Given the description of an element on the screen output the (x, y) to click on. 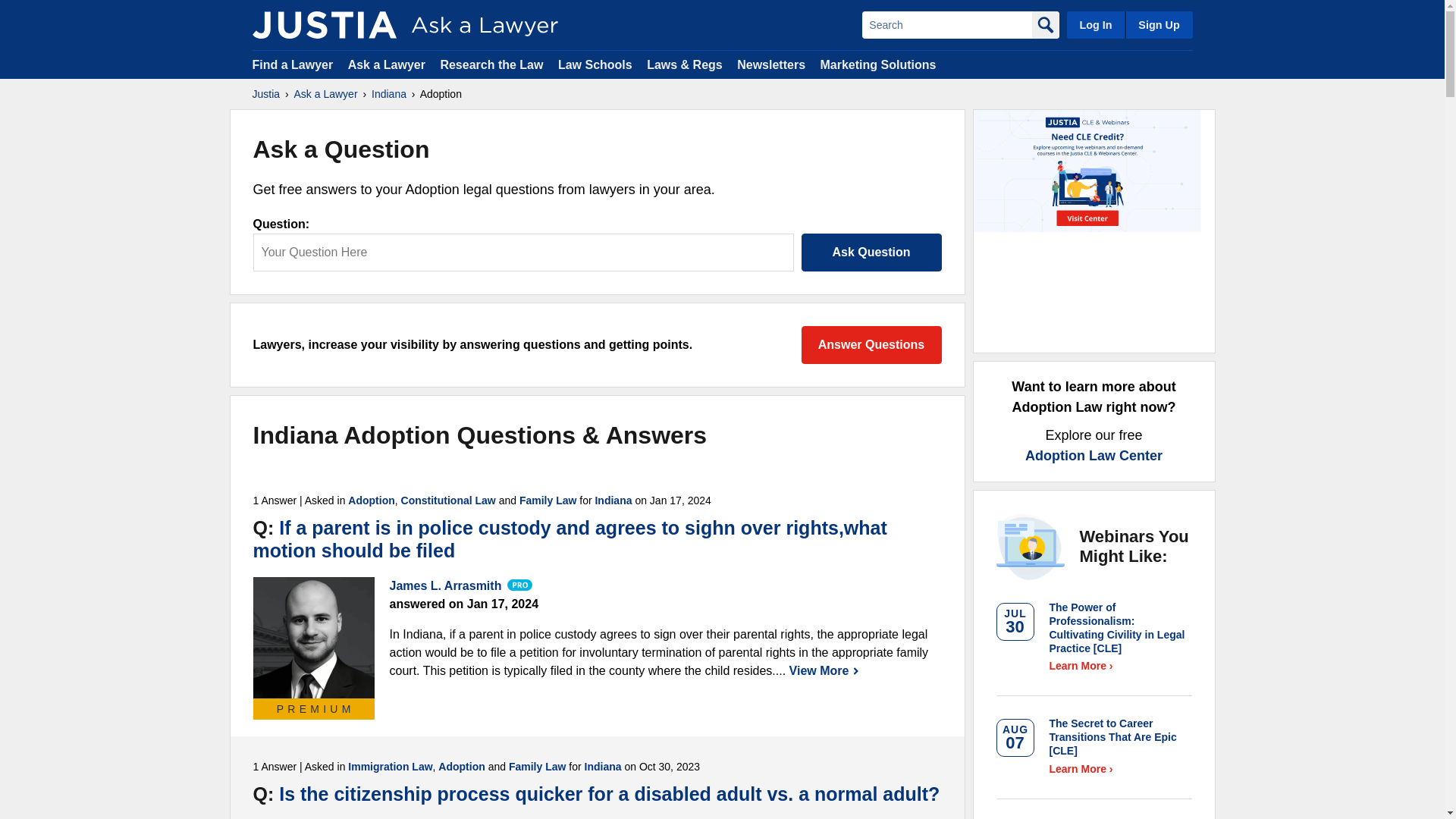
Law Schools (594, 64)
Log In (1094, 24)
Newsletters (770, 64)
Family Law (547, 500)
View More (824, 670)
Adoption (370, 500)
James L. Arrasmith (313, 637)
Search (945, 24)
James L. Arrasmith (446, 585)
Indiana (612, 500)
Research the Law (491, 64)
Ask a Lawyer (388, 64)
PREMIUM (313, 637)
Answer Questions (870, 344)
